Given the description of an element on the screen output the (x, y) to click on. 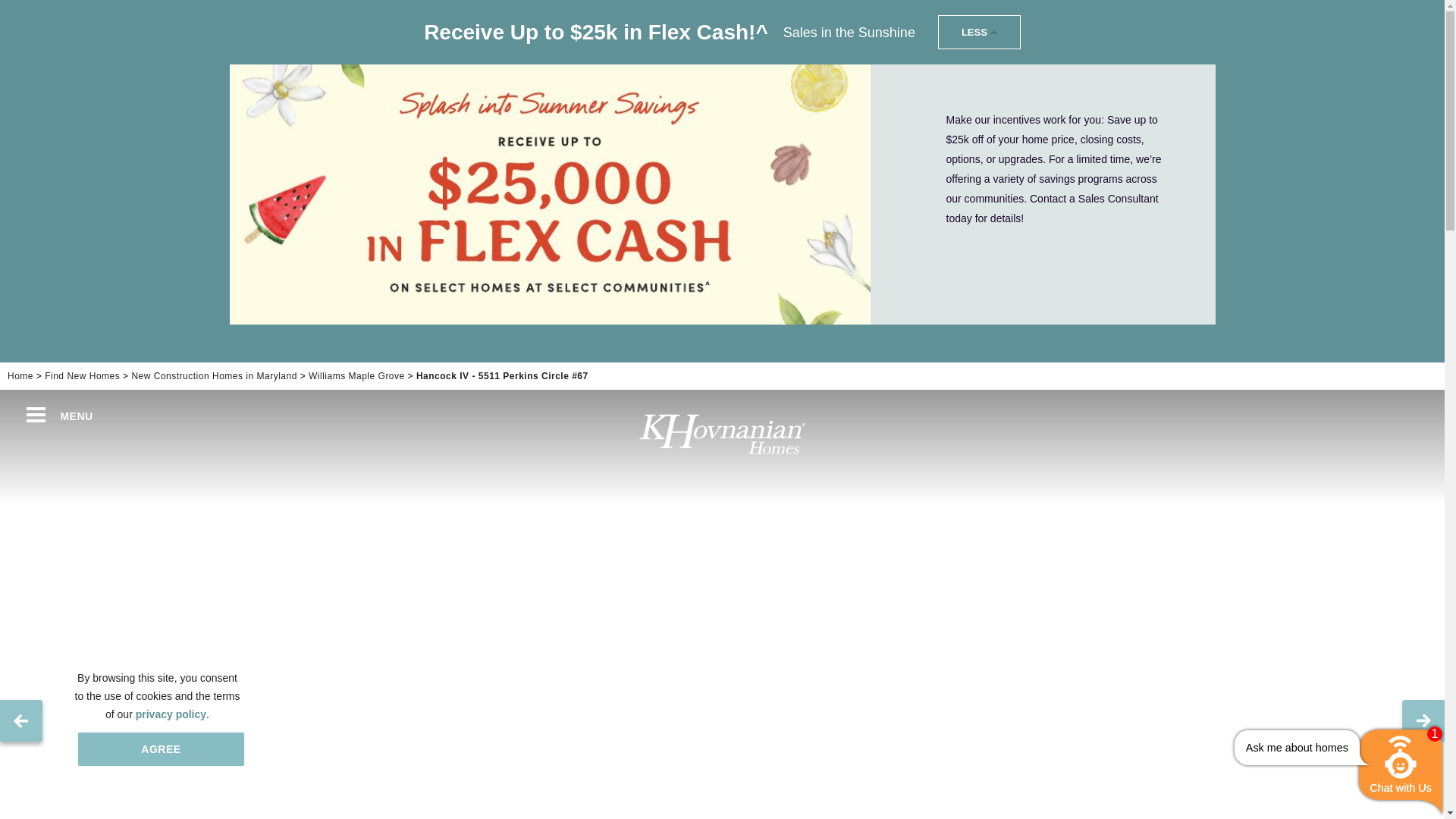
LESS (978, 32)
Find New Homes (82, 376)
New Construction Homes in Maryland (214, 376)
Home (20, 376)
Williams Maple Grove (356, 376)
